Given the description of an element on the screen output the (x, y) to click on. 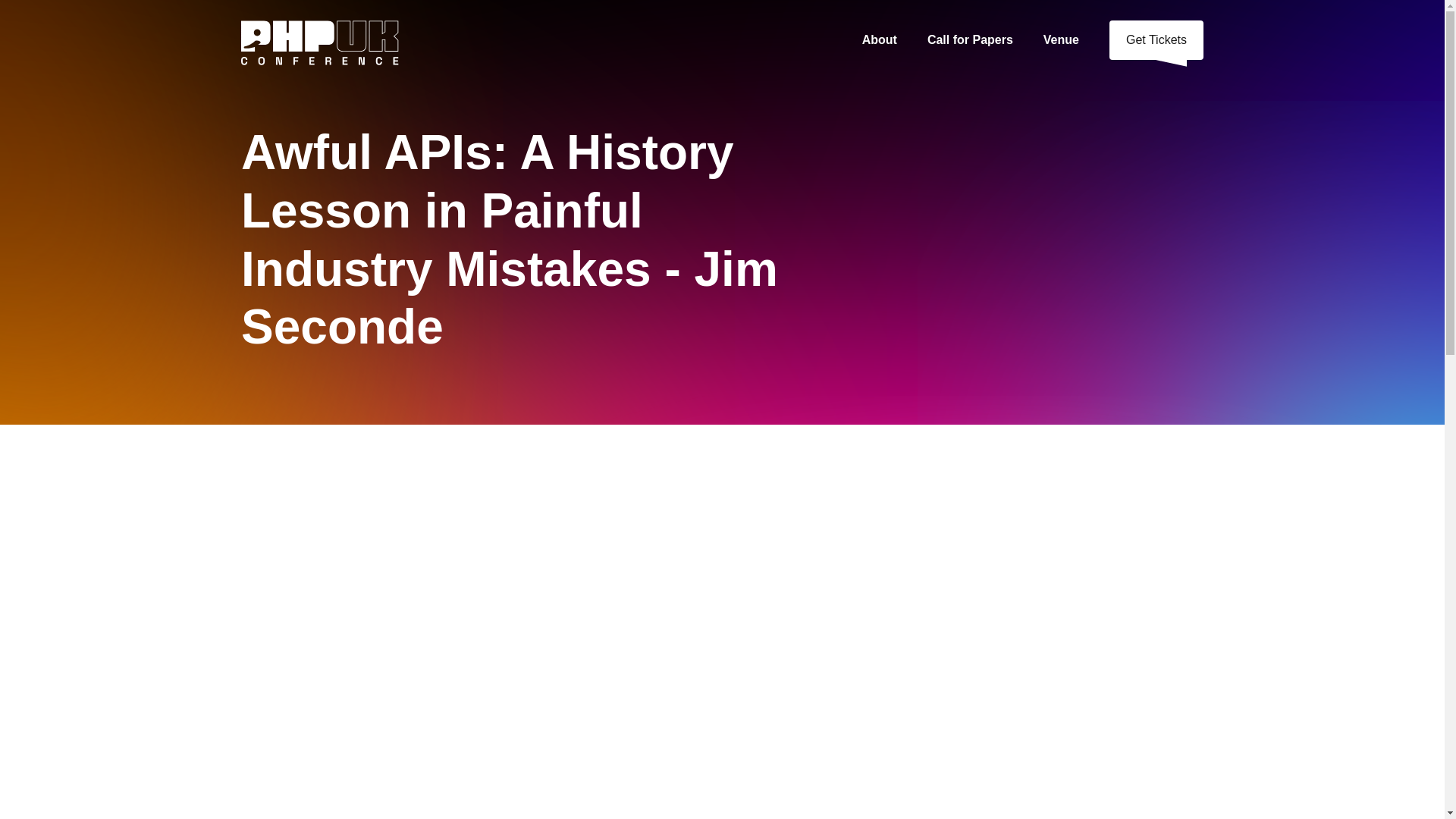
Venue (1060, 39)
Get Tickets (1156, 38)
About (879, 39)
Call for Papers (969, 39)
